Given the description of an element on the screen output the (x, y) to click on. 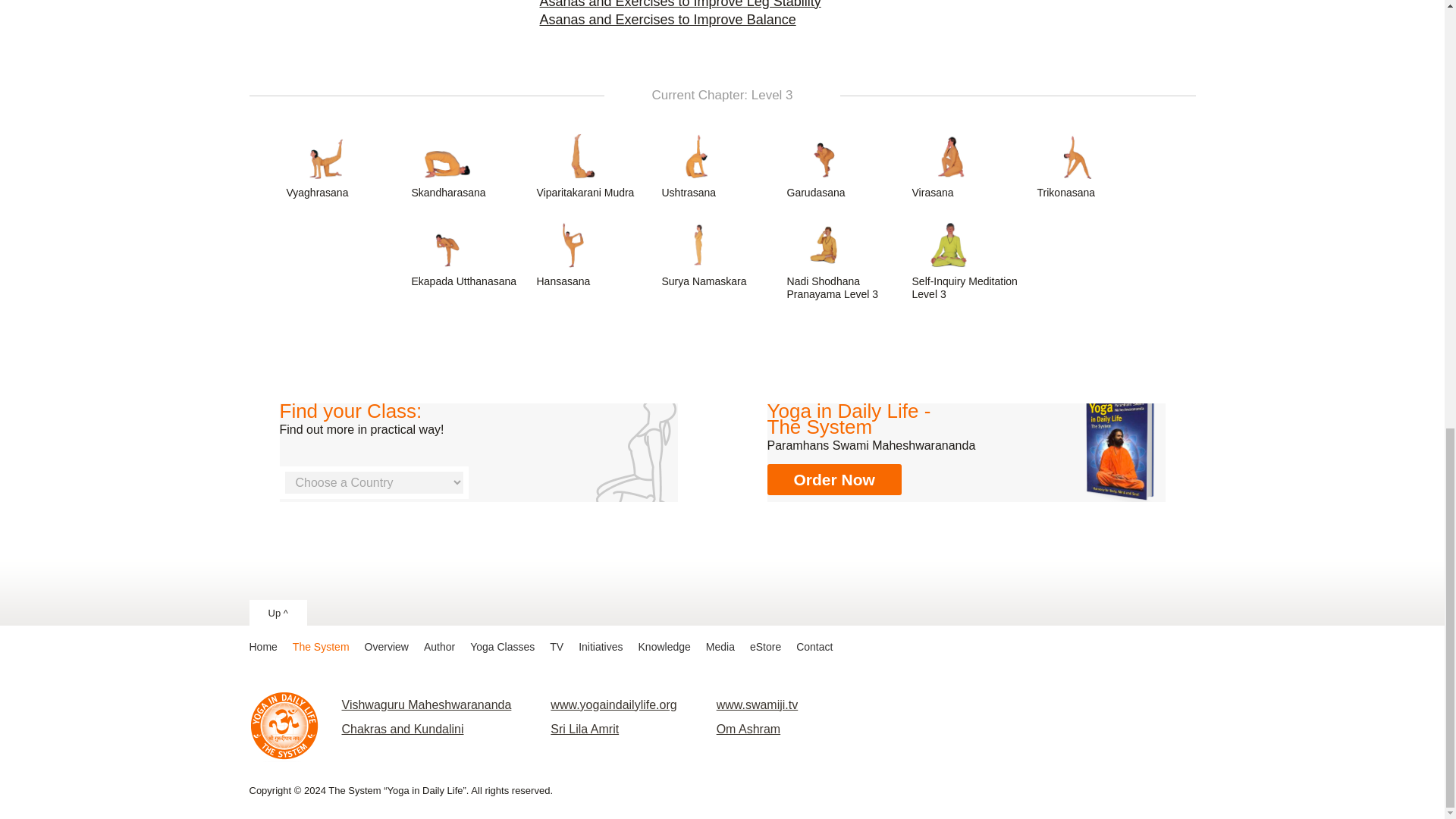
Vyaghrasana (344, 165)
Vyaghrasana (344, 165)
Virasana (970, 165)
Ushtrasana (719, 165)
Virasana (970, 165)
Viparitakarani Mudra (594, 165)
Skandharasana (469, 165)
Trikonasana (1095, 165)
Garudasana (845, 165)
Skandharasana (469, 165)
Asanas and Exercises to Improve Leg Stability (680, 4)
Garudasana (845, 165)
Trikonasana (1095, 165)
Asanas and Exercises to Improve Balance (668, 18)
Order Now (834, 478)
